Given the description of an element on the screen output the (x, y) to click on. 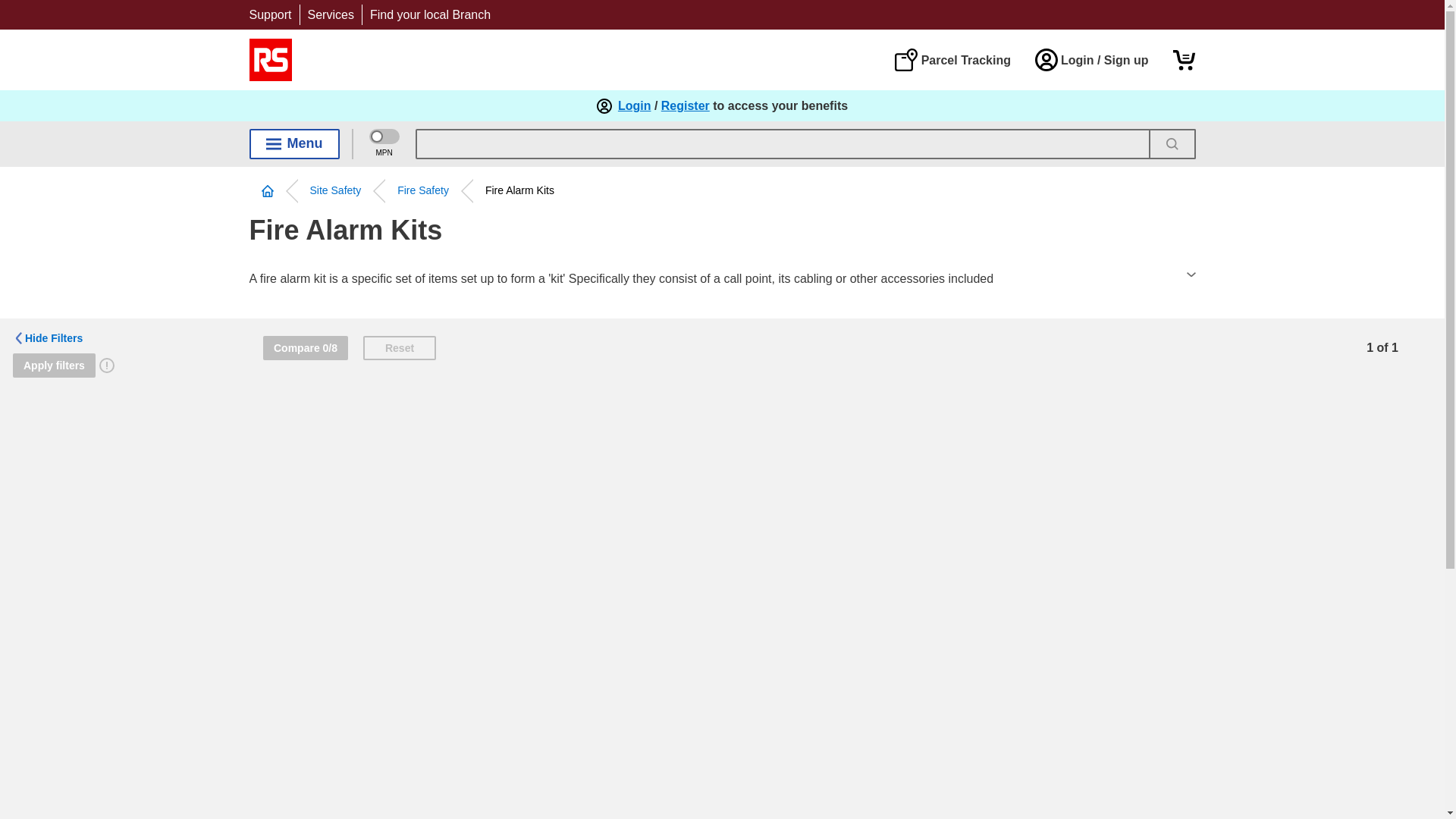
Find your local Branch (429, 14)
Parcel Tracking (951, 59)
Register (685, 105)
Menu (293, 143)
Services (330, 14)
Support (269, 14)
Login (633, 105)
